Given the description of an element on the screen output the (x, y) to click on. 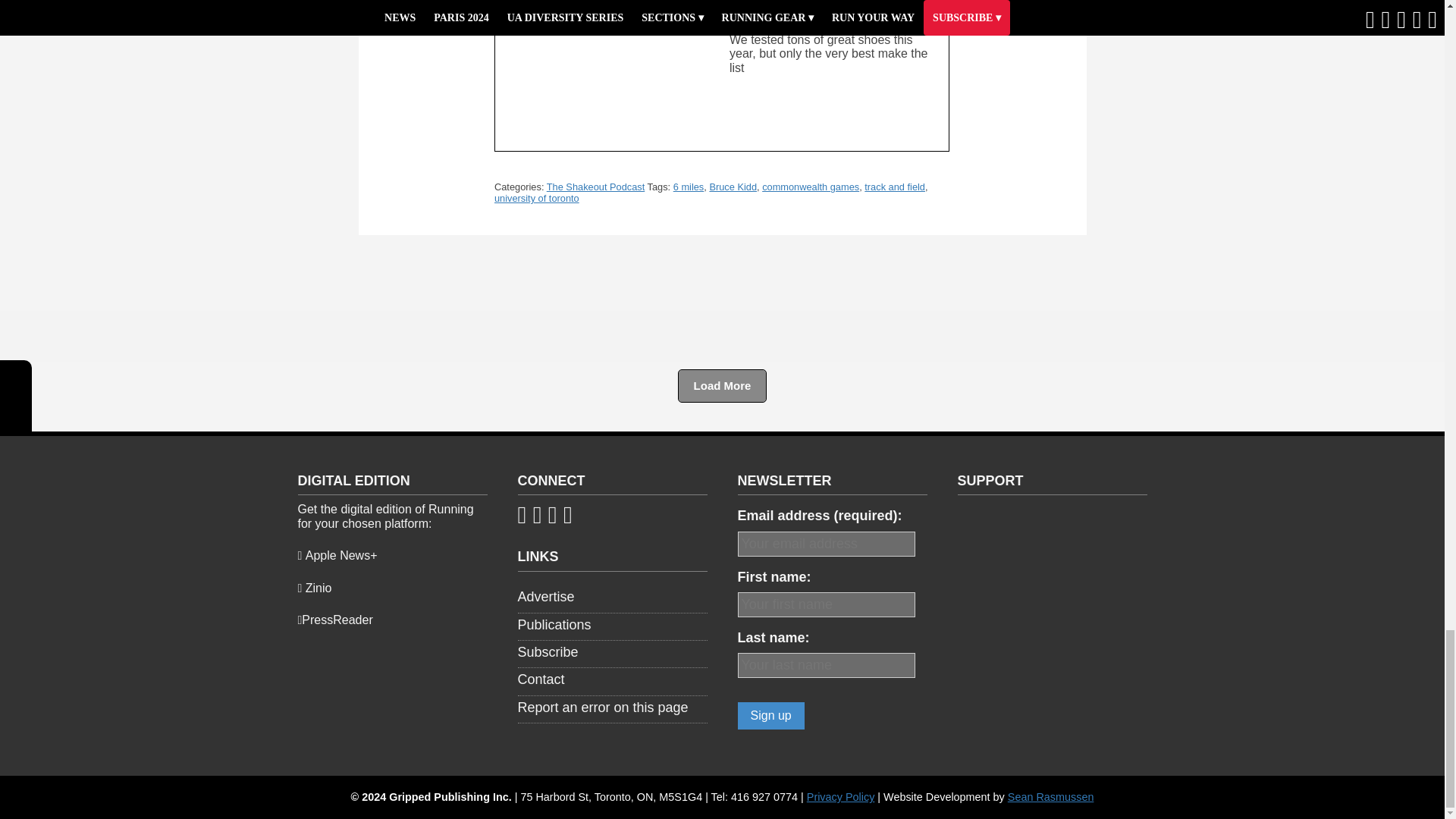
Sign up (769, 715)
Ontario Creates website (1051, 549)
